Given the description of an element on the screen output the (x, y) to click on. 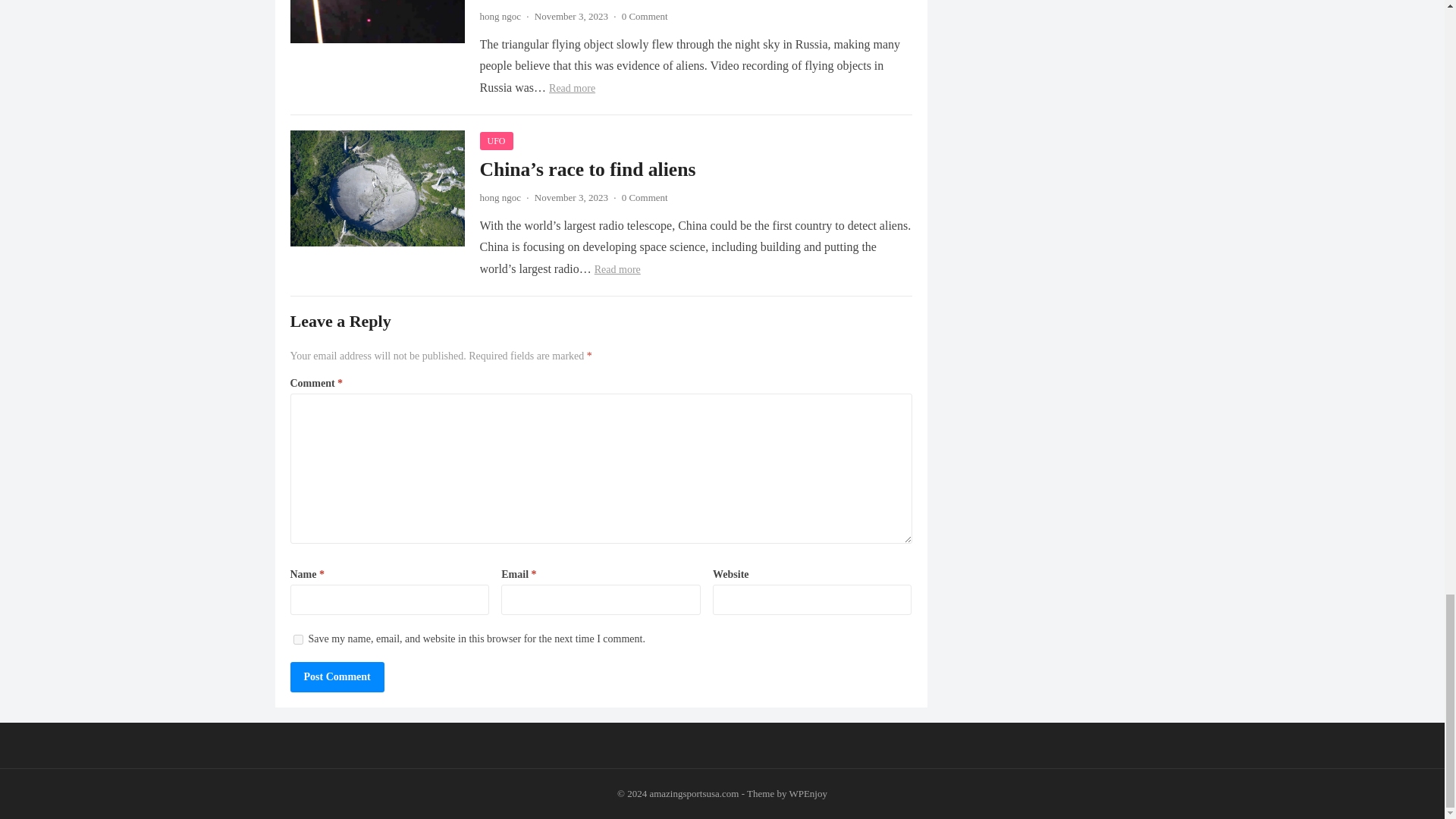
yes (297, 639)
Posts by hong ngoc (500, 16)
Posts by hong ngoc (500, 197)
Post Comment (336, 676)
